Given the description of an element on the screen output the (x, y) to click on. 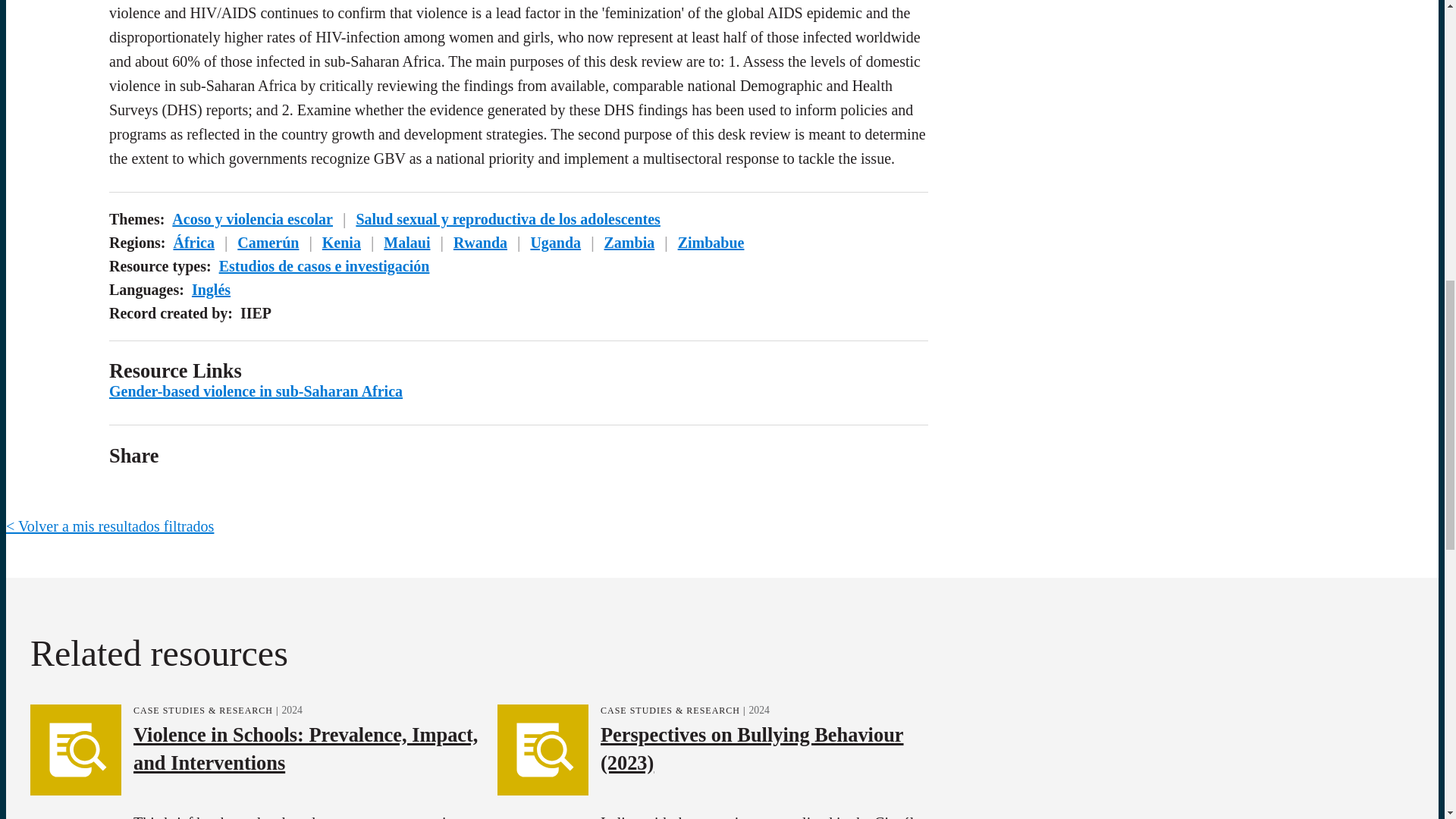
Kenia (341, 242)
Zimbabue (711, 242)
Uganda (554, 242)
Salud sexual y reproductiva de los adolescentes (508, 218)
Rwanda (479, 242)
Gender-based violence in sub-Saharan Africa (256, 391)
Malaui (406, 242)
Zambia (629, 242)
Acoso y violencia escolar (252, 218)
